Given the description of an element on the screen output the (x, y) to click on. 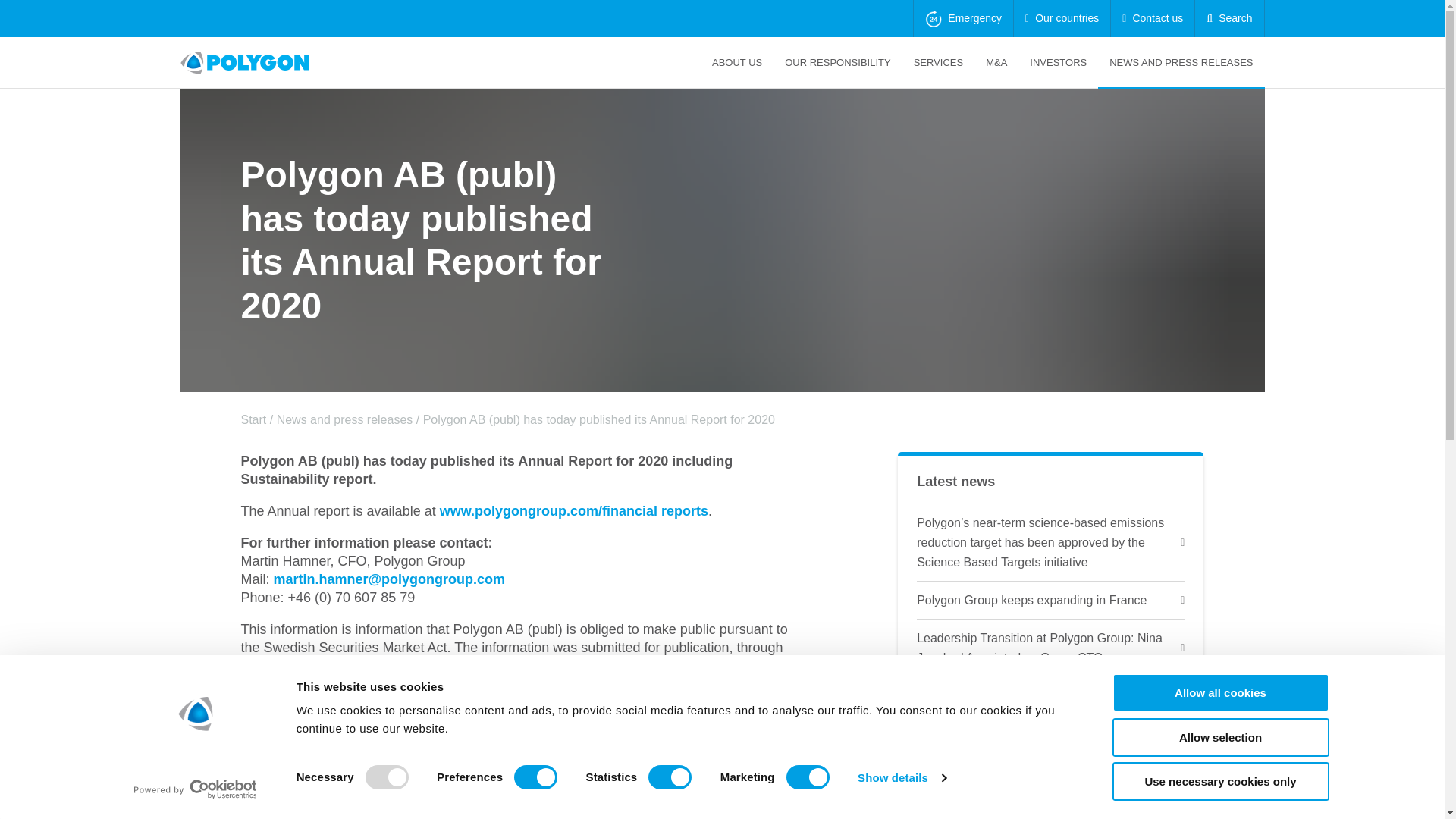
Show details (900, 777)
